Given the description of an element on the screen output the (x, y) to click on. 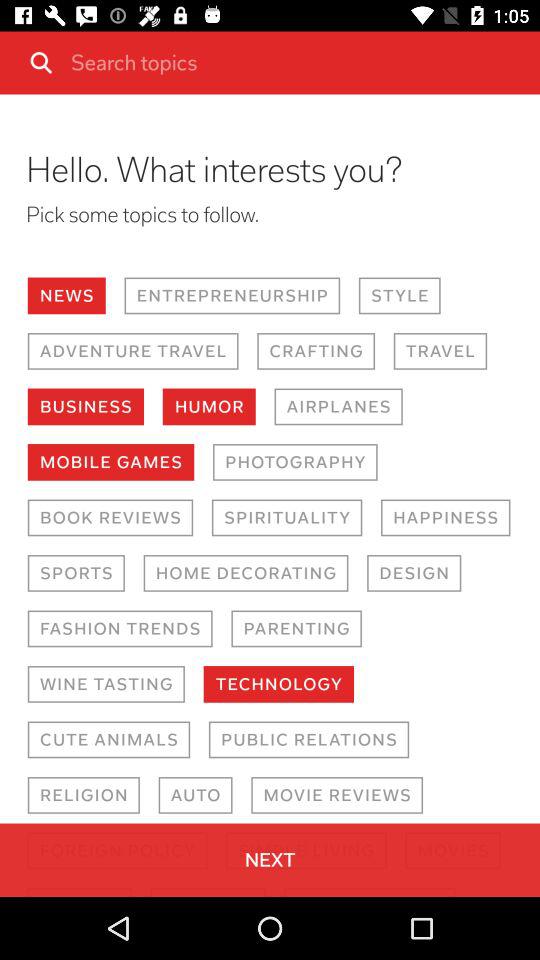
turn off the icon above the hello what interests (298, 62)
